Given the description of an element on the screen output the (x, y) to click on. 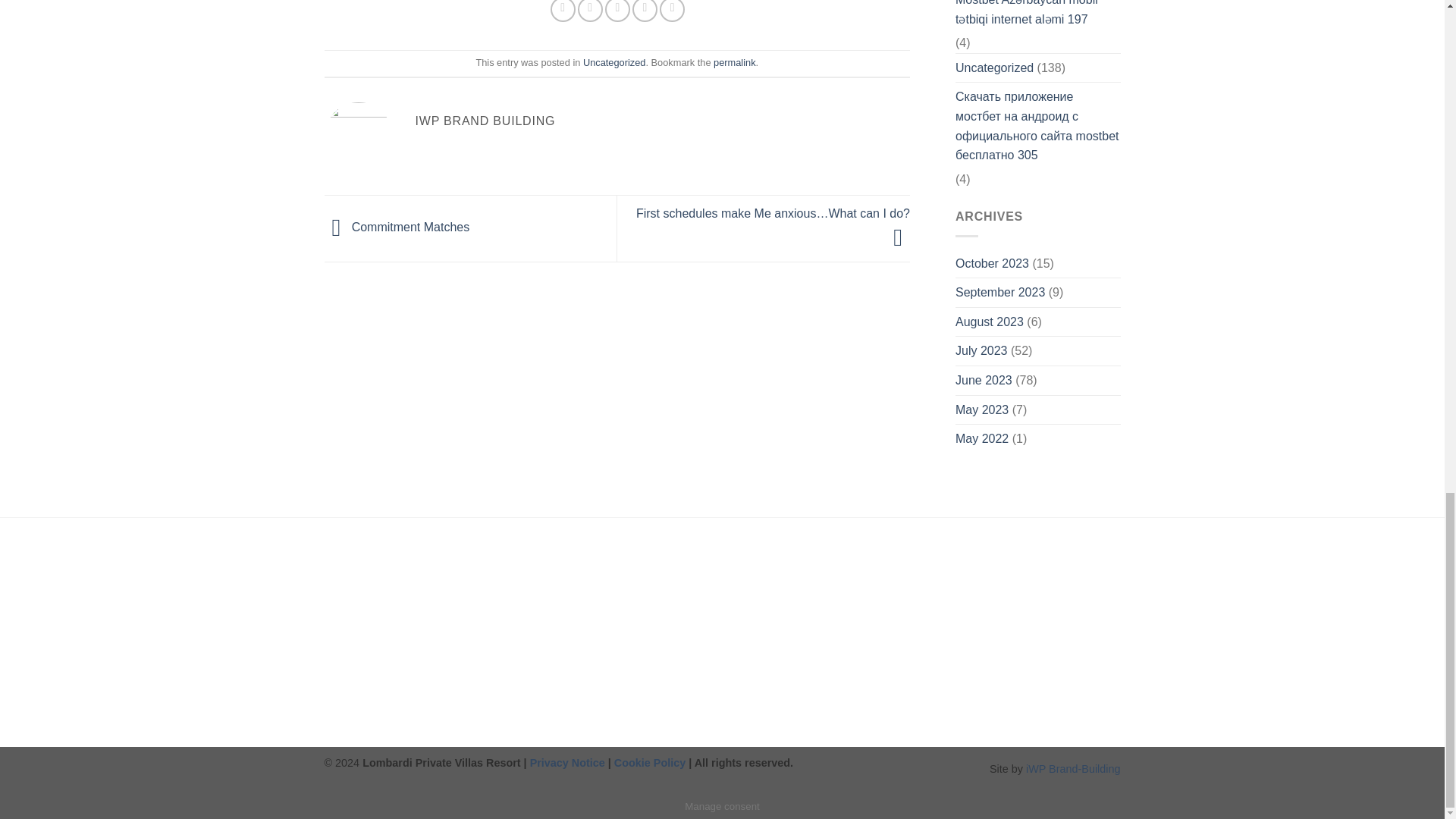
Pin on Pinterest (644, 11)
Share on Facebook (562, 11)
Uncategorized (614, 61)
Email to a Friend (617, 11)
permalink (734, 61)
Commitment Matches (397, 227)
Share on LinkedIn (671, 11)
Share on Twitter (590, 11)
